Given the description of an element on the screen output the (x, y) to click on. 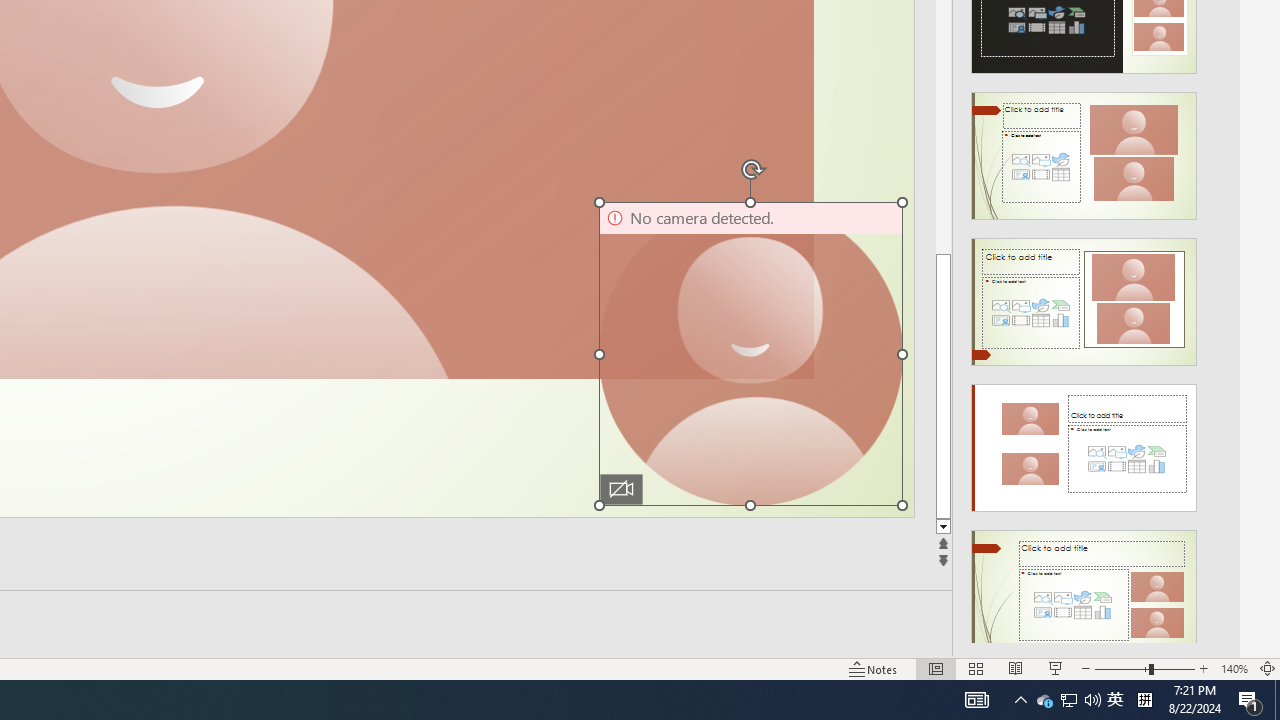
Design Idea (1083, 587)
Zoom 140% (1234, 668)
Camera 4, No camera detected. (750, 353)
